Given the description of an element on the screen output the (x, y) to click on. 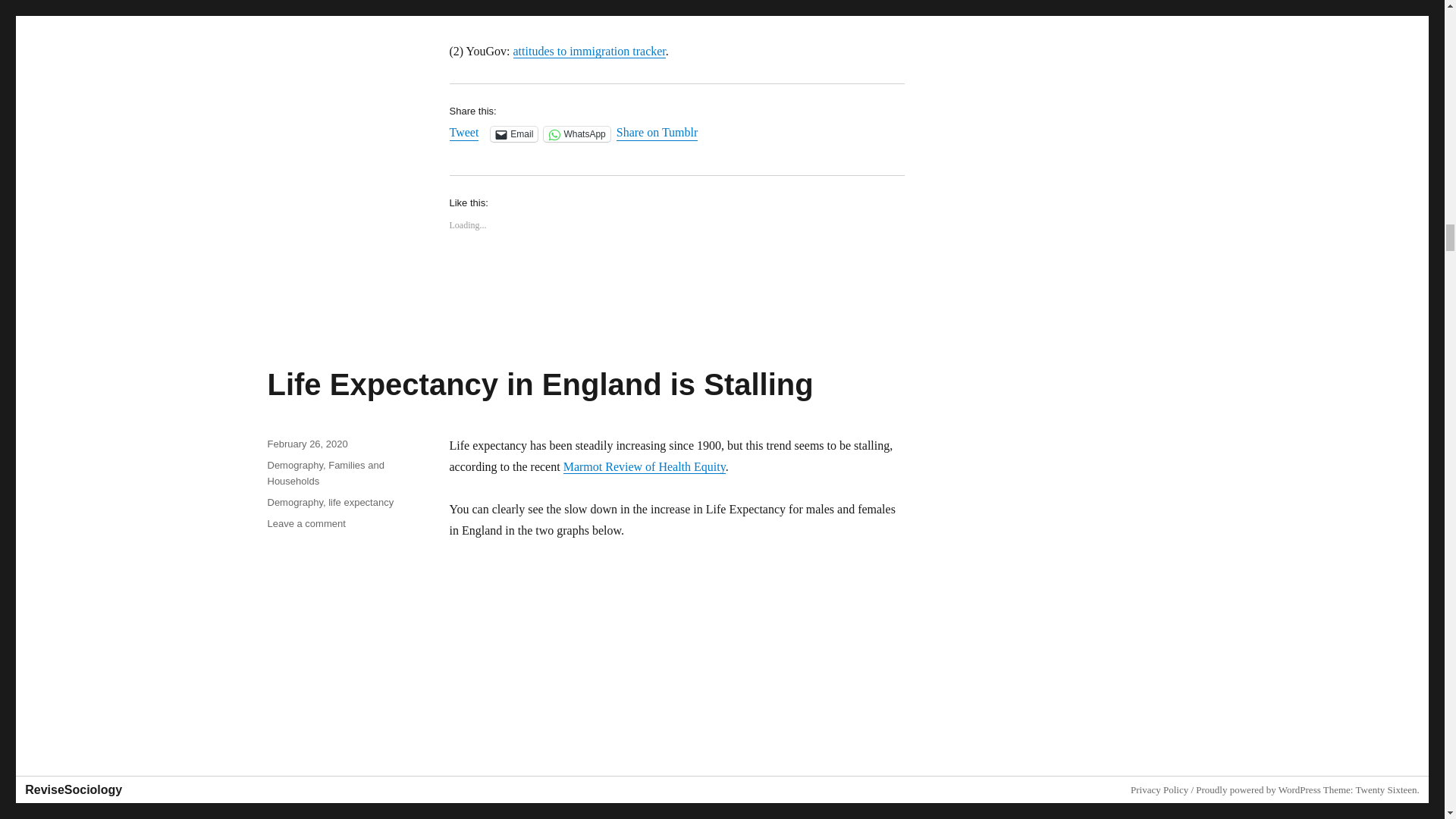
Click to email a link to a friend (513, 133)
Share on Tumblr (656, 133)
Click to share on WhatsApp (576, 133)
